Given the description of an element on the screen output the (x, y) to click on. 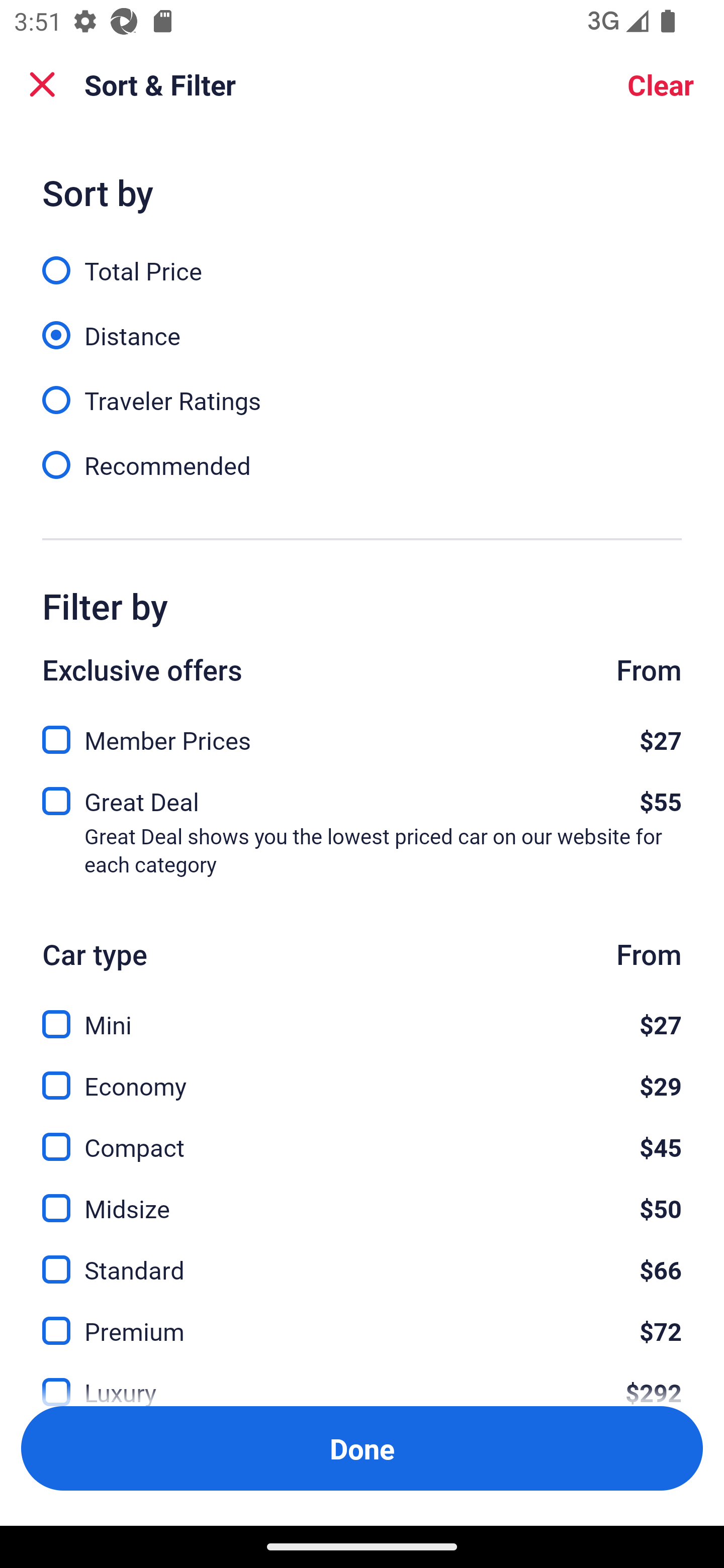
Close Sort and Filter (42, 84)
Clear (660, 84)
Total Price (361, 259)
Traveler Ratings (361, 389)
Recommended (361, 463)
Member Prices, $27 Member Prices $27 (361, 734)
Mini, $27 Mini $27 (361, 1013)
Economy, $29 Economy $29 (361, 1074)
Compact, $45 Compact $45 (361, 1135)
Midsize, $50 Midsize $50 (361, 1196)
Standard, $66 Standard $66 (361, 1257)
Premium, $72 Premium $72 (361, 1319)
Luxury, $292 Luxury $292 (361, 1378)
Apply and close Sort and Filter Done (361, 1448)
